Given the description of an element on the screen output the (x, y) to click on. 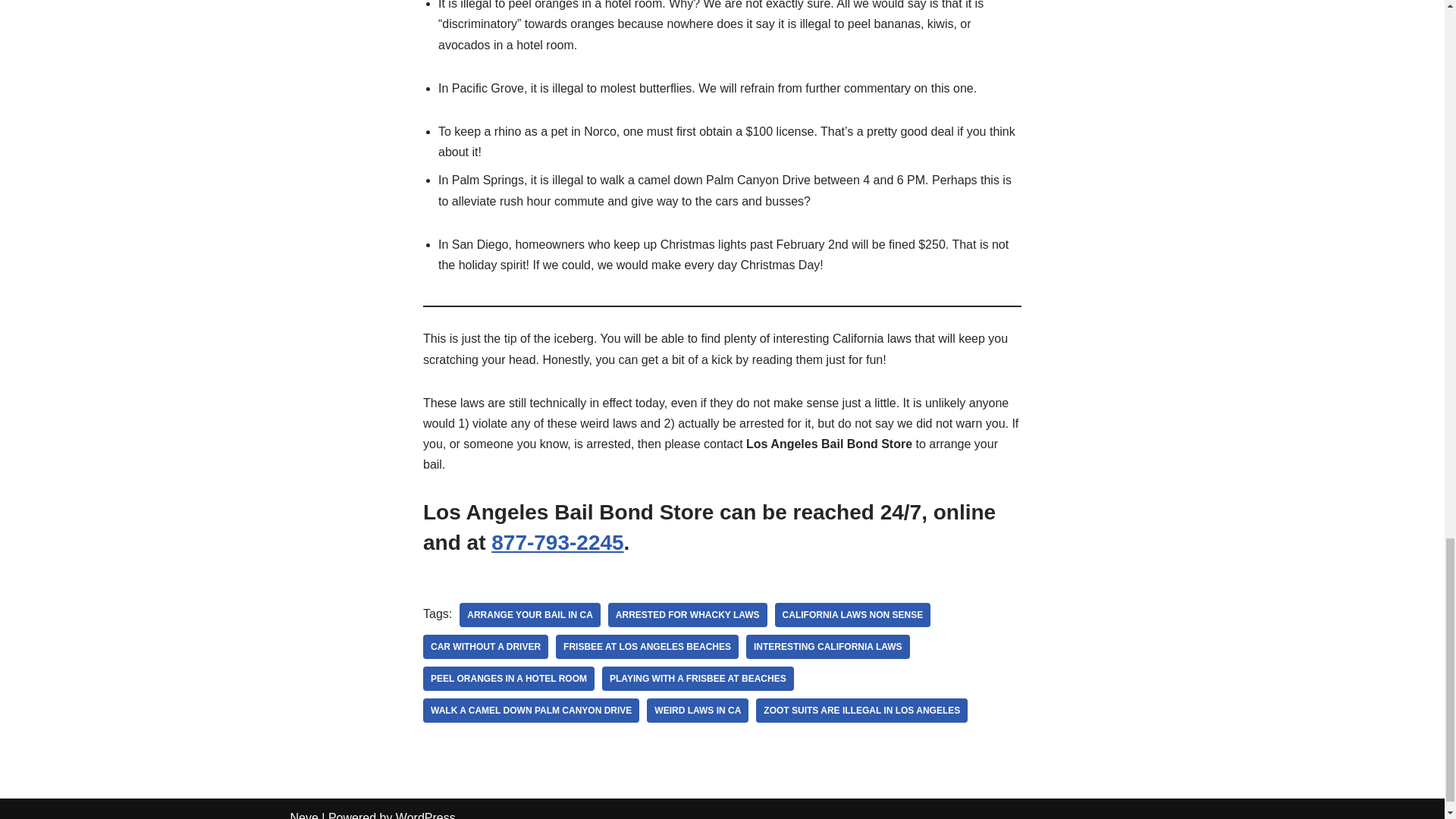
playing with a Frisbee at beaches (697, 678)
WordPress (425, 815)
CALIFORNIA LAWS NON SENSE (852, 614)
California Laws non sense (852, 614)
PEEL ORANGES IN A HOTEL ROOM (508, 678)
Frisbee at Los Angeles beaches (647, 646)
interesting California laws (827, 646)
walk a camel down Palm Canyon Drive (531, 710)
peel oranges in a hotel room (508, 678)
FRISBEE AT LOS ANGELES BEACHES (647, 646)
ZOOT SUITS ARE ILLEGAL IN LOS ANGELES (861, 710)
WALK A CAMEL DOWN PALM CANYON DRIVE (531, 710)
arrange your bail in ca (529, 614)
car without a driver (485, 646)
WEIRD LAWS IN CA (697, 710)
